Given the description of an element on the screen output the (x, y) to click on. 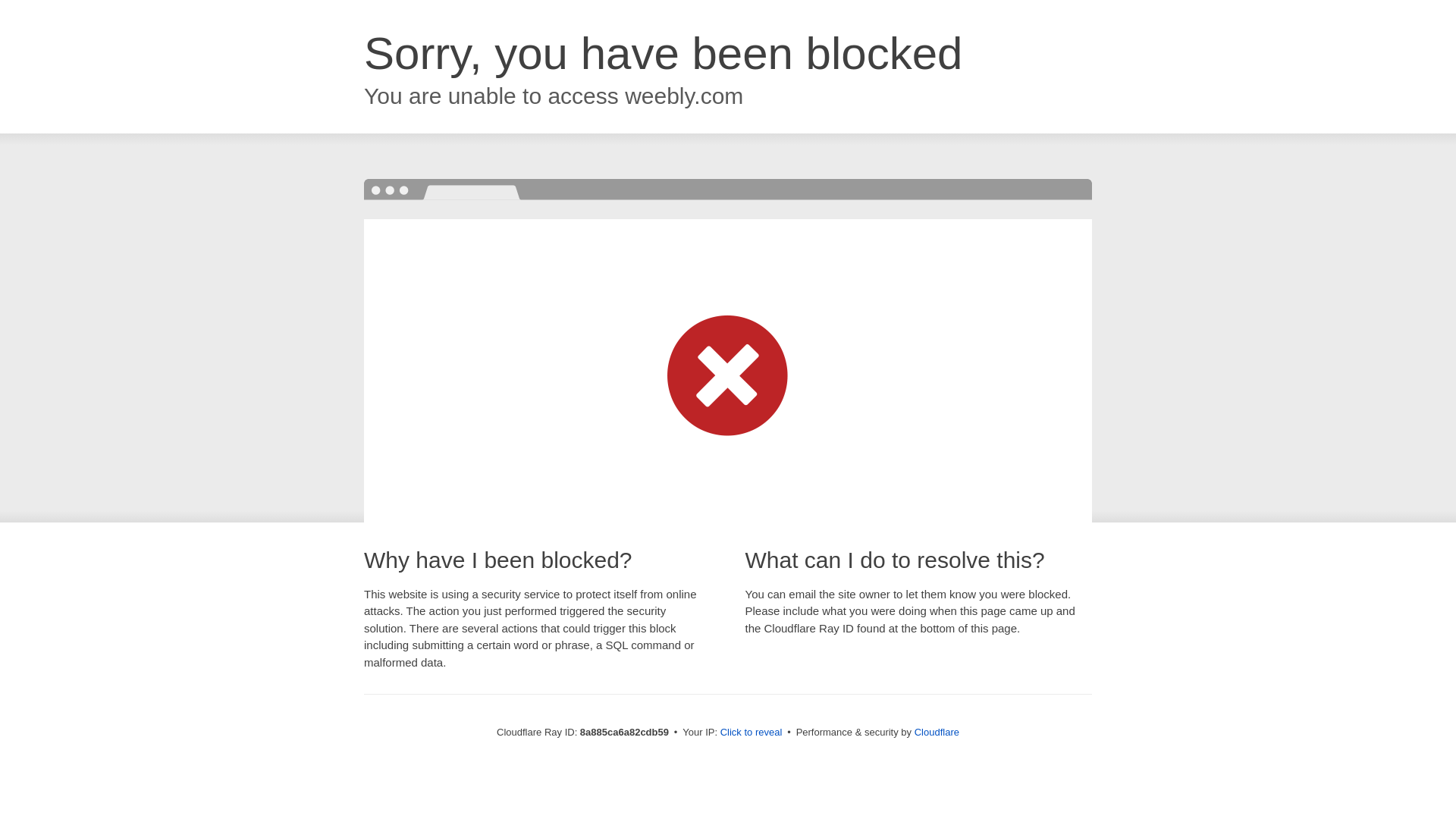
Click to reveal (751, 732)
Cloudflare (936, 731)
